Given the description of an element on the screen output the (x, y) to click on. 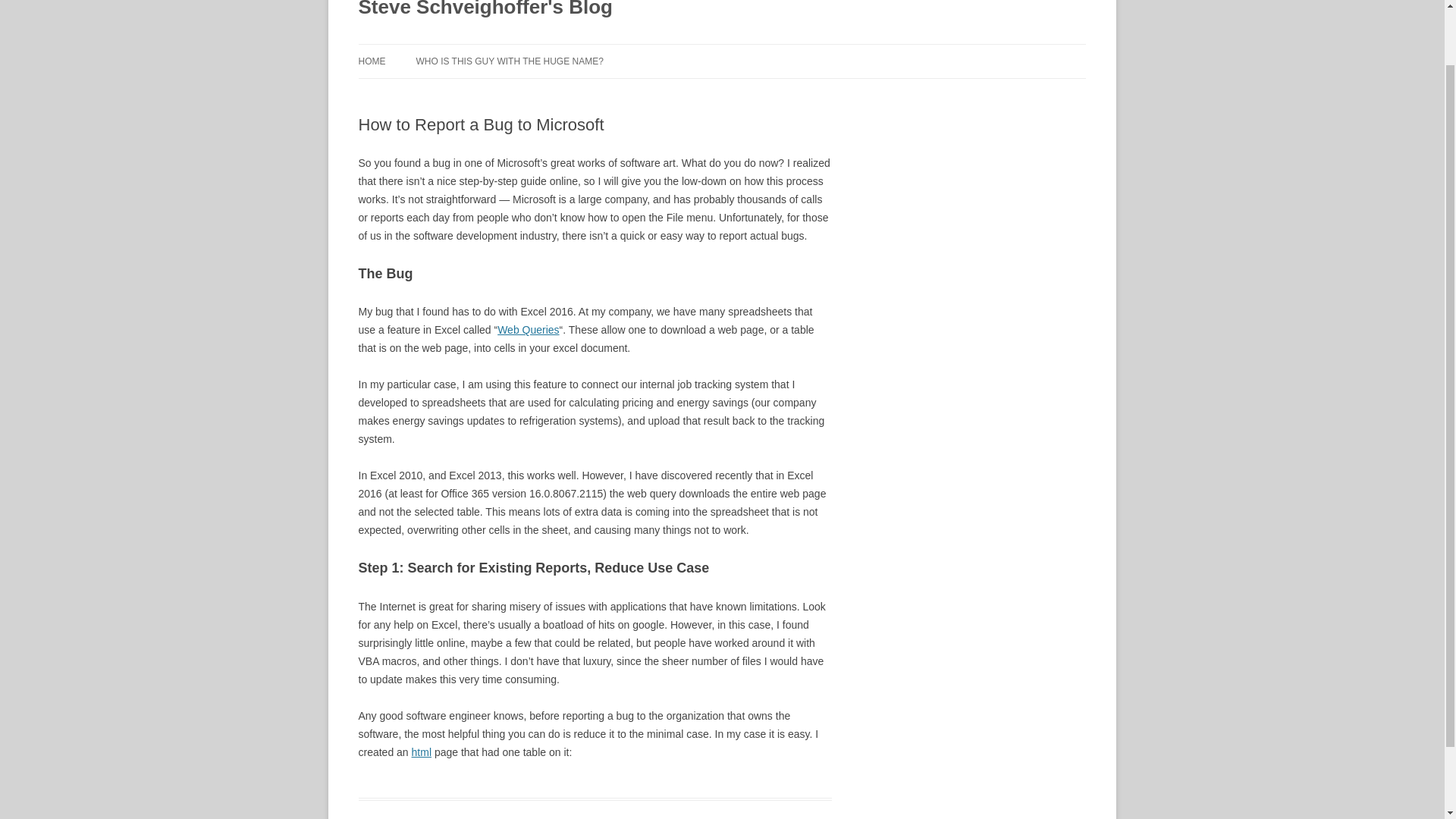
html (421, 752)
Web Queries (528, 329)
WHO IS THIS GUY WITH THE HUGE NAME? (508, 61)
Steve Schveighoffer's Blog (484, 12)
Steve Schveighoffer's Blog (484, 12)
